Given the description of an element on the screen output the (x, y) to click on. 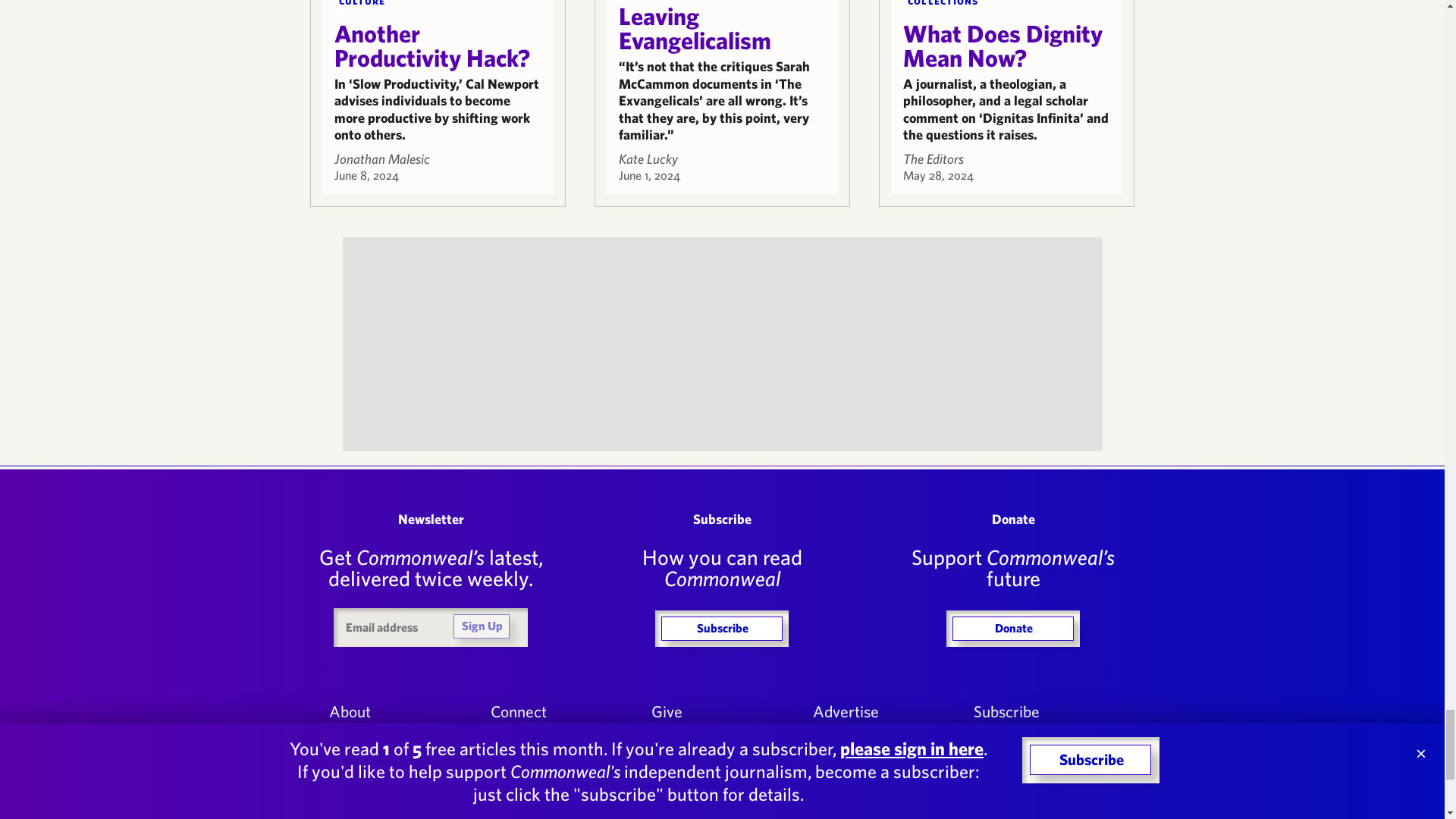
Sign Up (480, 626)
Saturday, June 1, 2024 - 14:44 (648, 174)
About Commonweal (399, 710)
Saturday, June 8, 2024 - 14:07 (365, 174)
View user profile. (932, 158)
Tuesday, May 28, 2024 - 16:43 (938, 174)
View user profile. (648, 158)
View user profile. (381, 158)
